Given the description of an element on the screen output the (x, y) to click on. 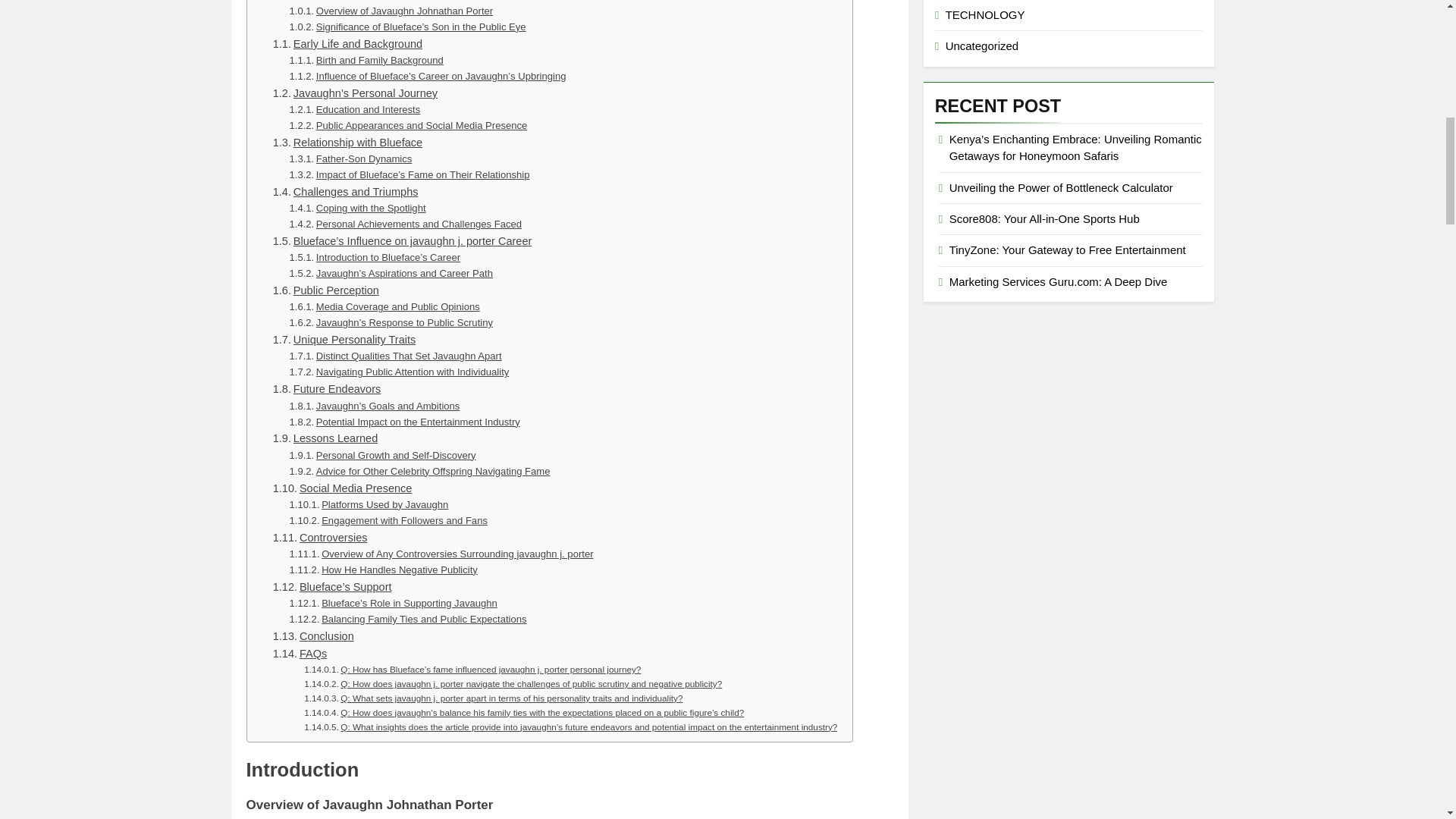
Early Life and Background (347, 44)
Early Life and Background (347, 44)
Father-Son Dynamics (350, 159)
Relationship with Blueface (347, 142)
Overview of Javaughn Johnathan Porter (391, 11)
Birth and Family Background (366, 60)
Challenges and Triumphs (346, 191)
Public Appearances and Social Media Presence (408, 125)
Birth and Family Background (366, 60)
Introduction (292, 2)
Education and Interests (354, 109)
Overview of Javaughn Johnathan Porter (391, 11)
Education and Interests (354, 109)
Introduction (292, 2)
Public Appearances and Social Media Presence (408, 125)
